Given the description of an element on the screen output the (x, y) to click on. 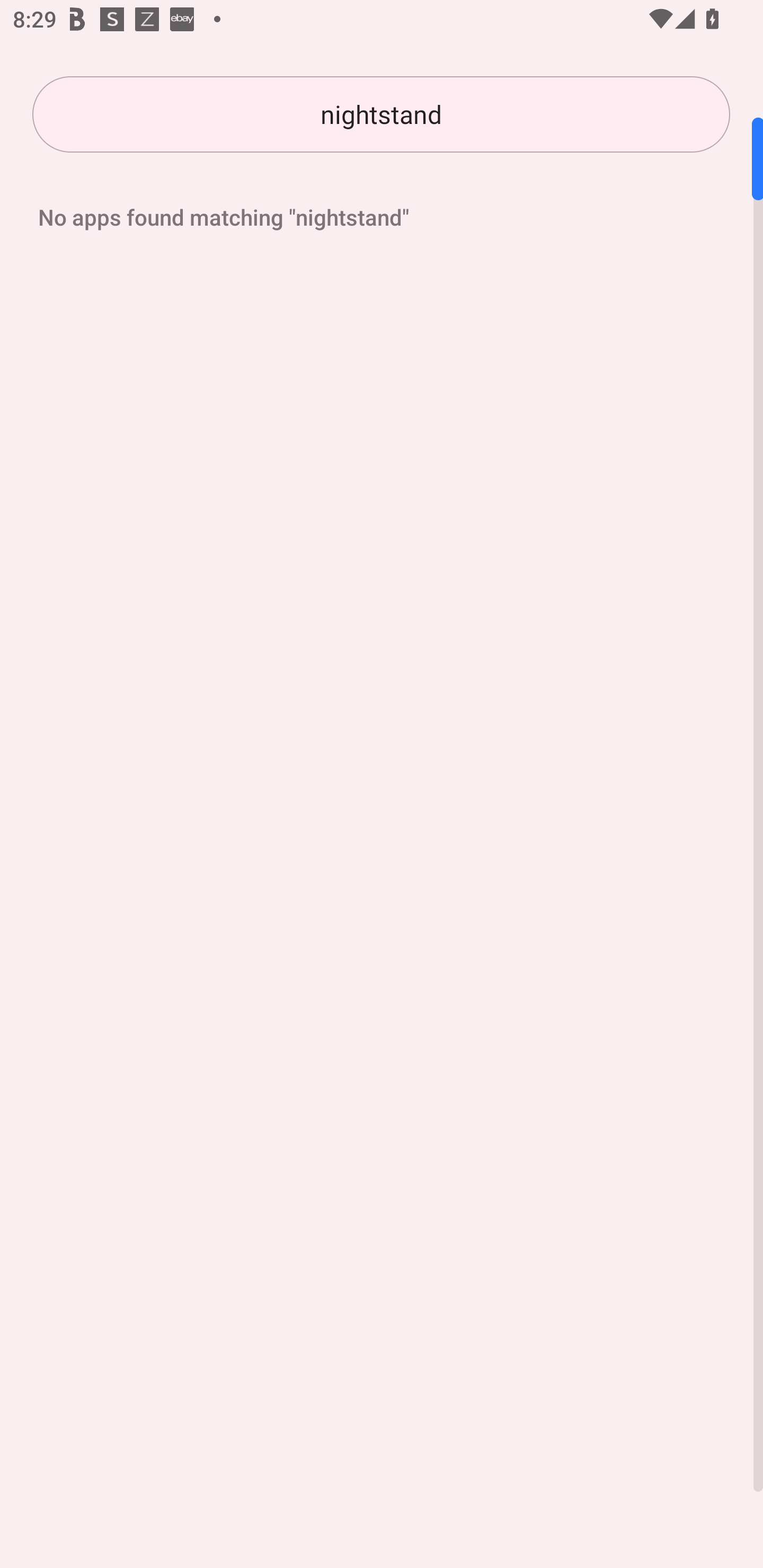
nightstand (381, 114)
